Given the description of an element on the screen output the (x, y) to click on. 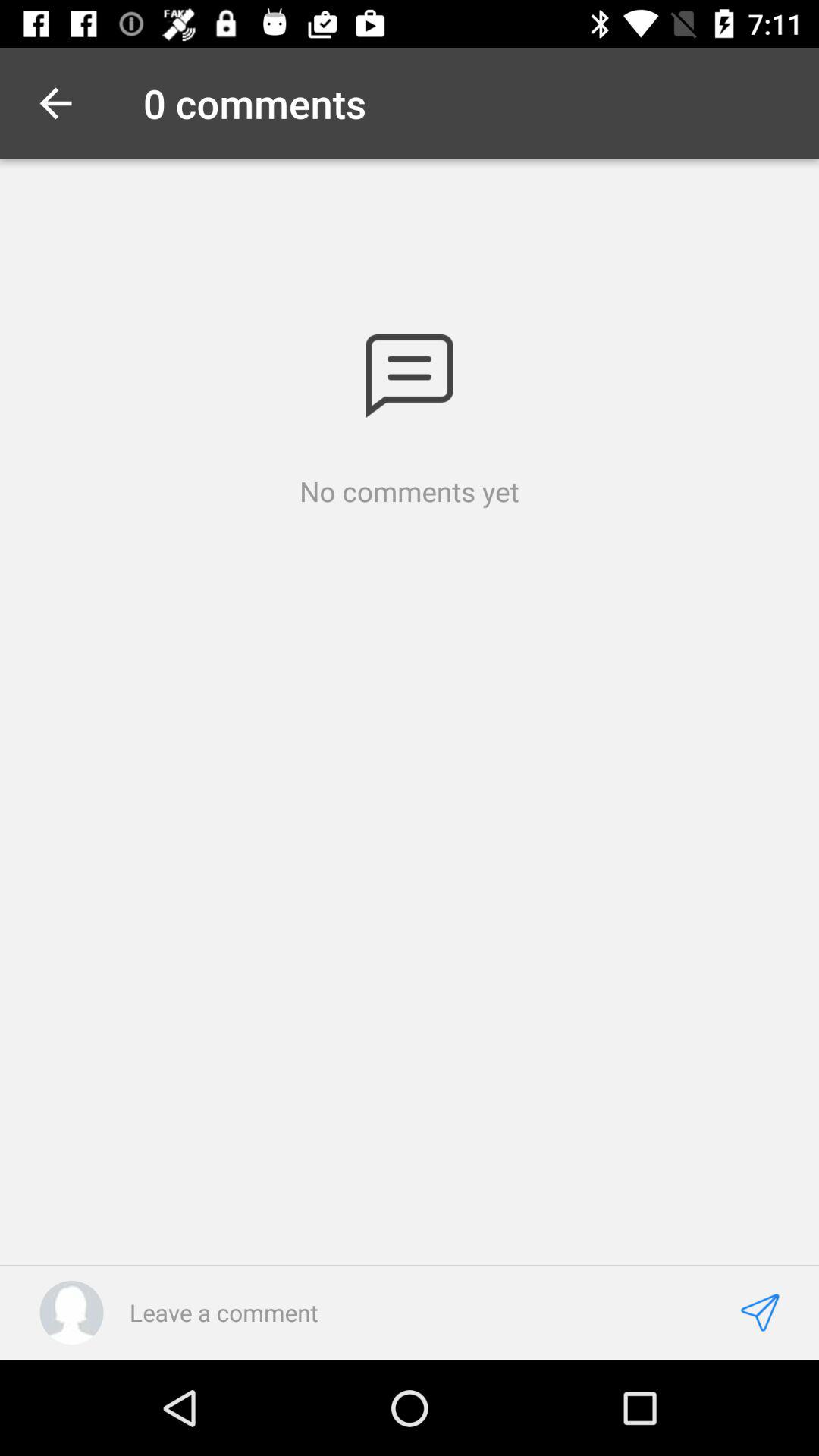
turn off item next to 0 comments icon (55, 103)
